Given the description of an element on the screen output the (x, y) to click on. 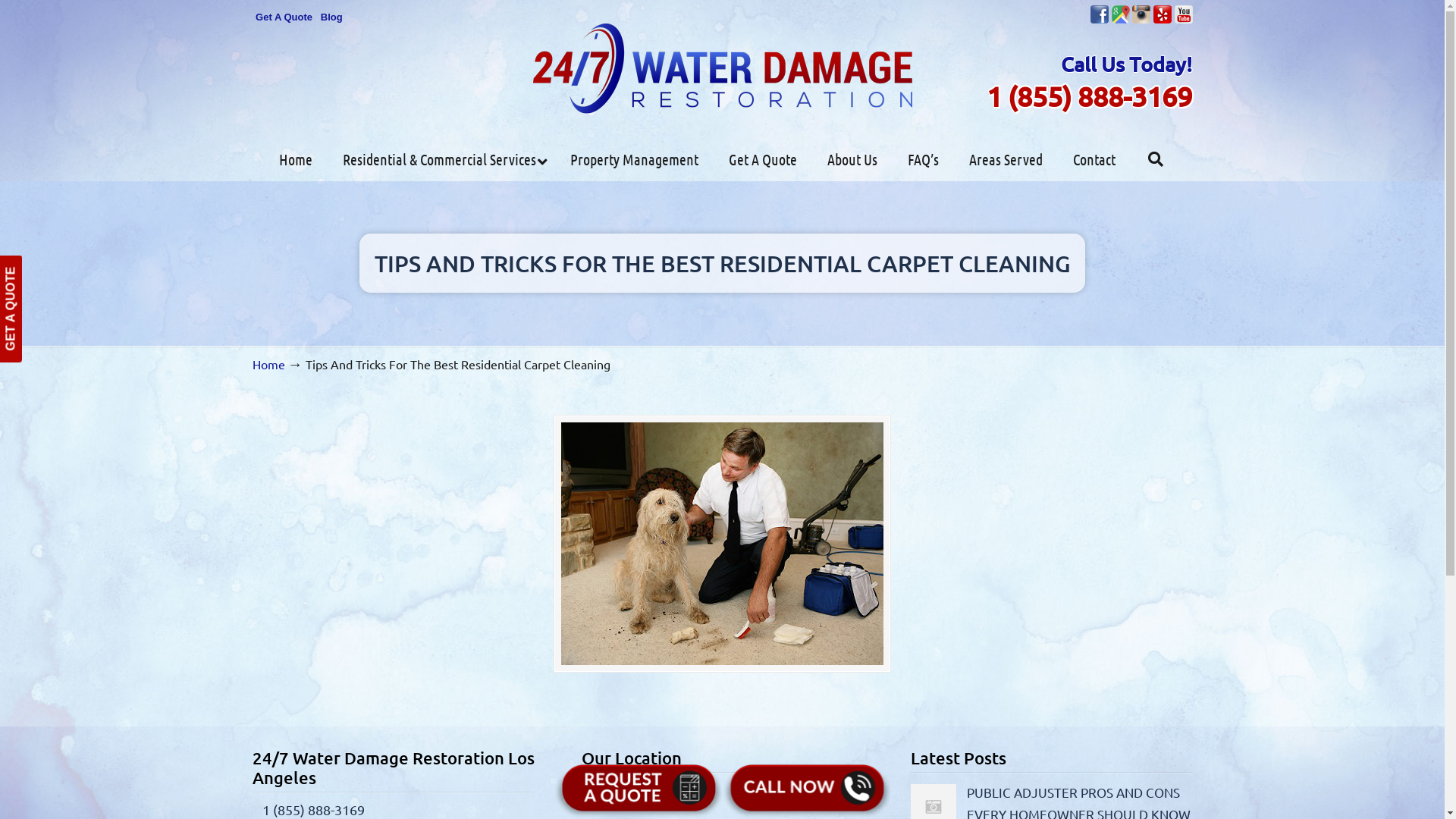
1 (855) 888-3169 Element type: text (313, 809)
Blog Element type: text (331, 16)
Facebook Element type: hover (1099, 14)
About Us Element type: text (852, 159)
Instagram Element type: hover (1141, 14)
YouTube Element type: hover (1182, 14)
Contact Element type: text (1093, 159)
YouTube Element type: hover (1182, 19)
Google Maps Element type: hover (1120, 14)
Yelp Element type: hover (1162, 19)
Home Element type: text (295, 159)
Property Management Element type: text (634, 159)
Home Element type: text (267, 363)
Get A Quote Element type: text (283, 16)
Areas Served Element type: text (1005, 159)
1 (855) 888-3169 Element type: text (1089, 95)
Residential & Commercial Services Element type: text (441, 159)
Facebook Element type: hover (1099, 19)
Instagram Element type: hover (1141, 19)
Get A Quote Element type: text (762, 159)
Google+ Element type: hover (1120, 19)
